Given the description of an element on the screen output the (x, y) to click on. 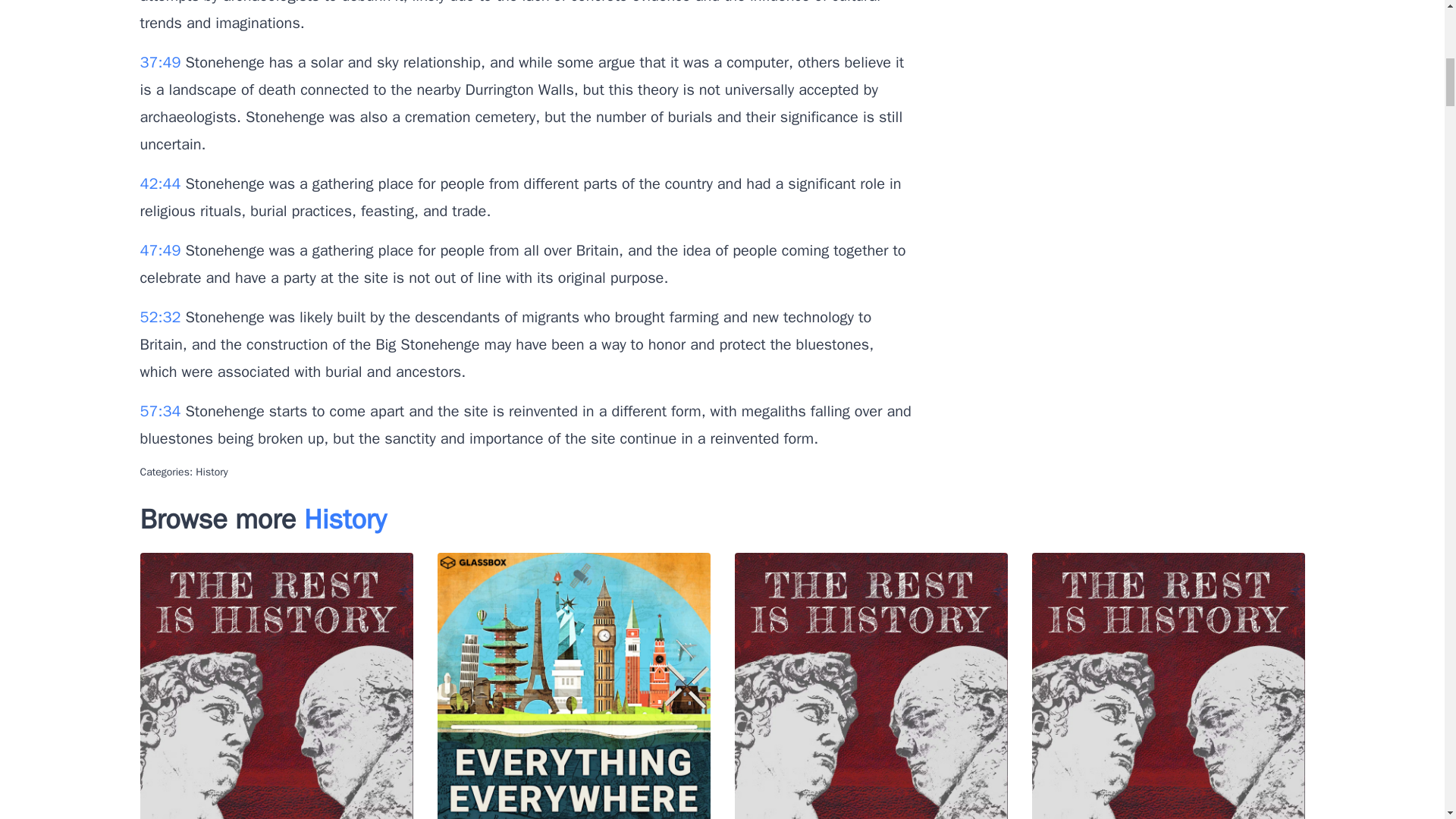
57:34 (161, 411)
37:49 (161, 62)
42:44 (161, 183)
History (345, 519)
47:49 (161, 250)
History (211, 472)
52:32 (161, 316)
